Given the description of an element on the screen output the (x, y) to click on. 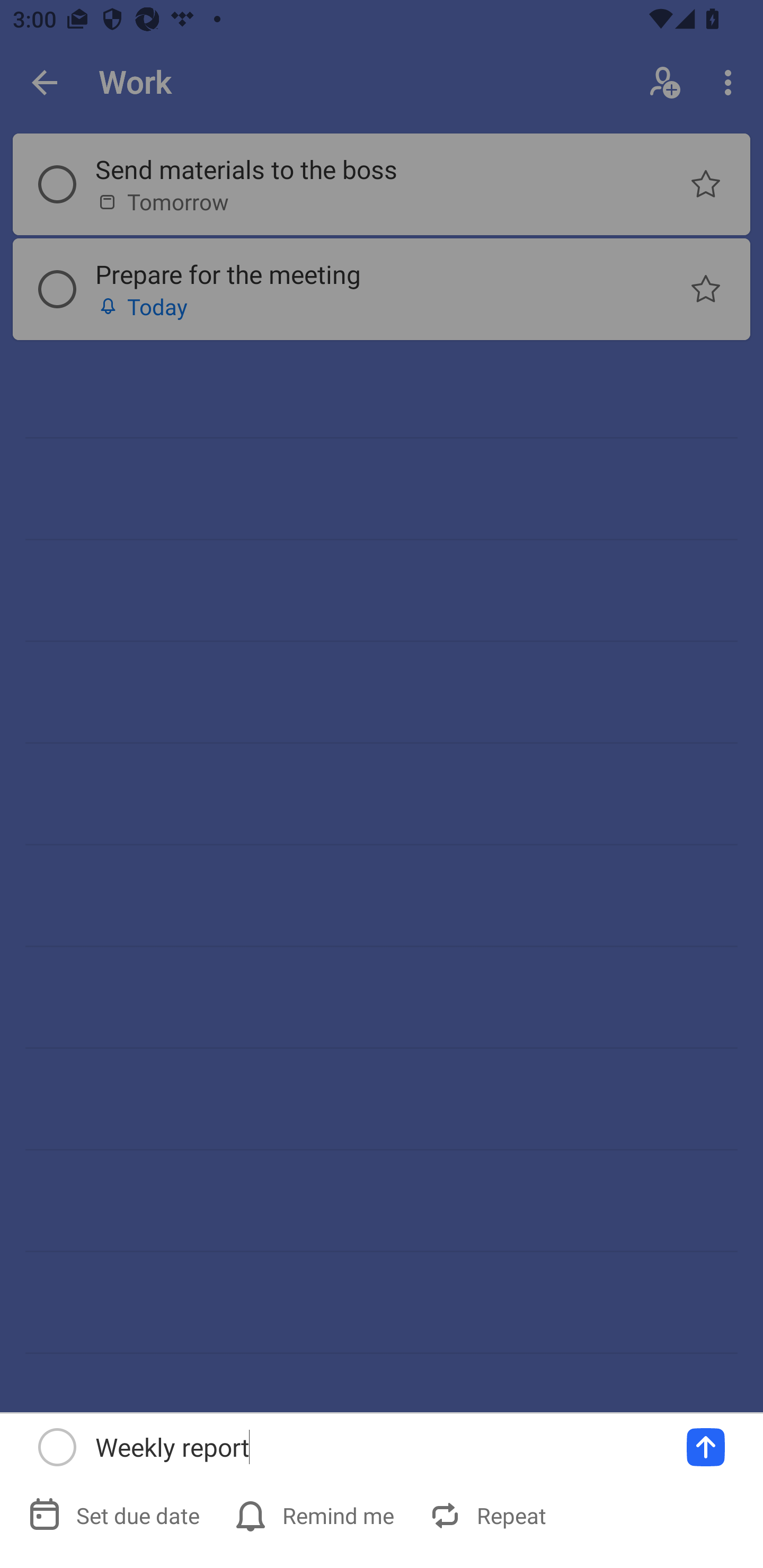
Repeat (489, 1515)
